Given the description of an element on the screen output the (x, y) to click on. 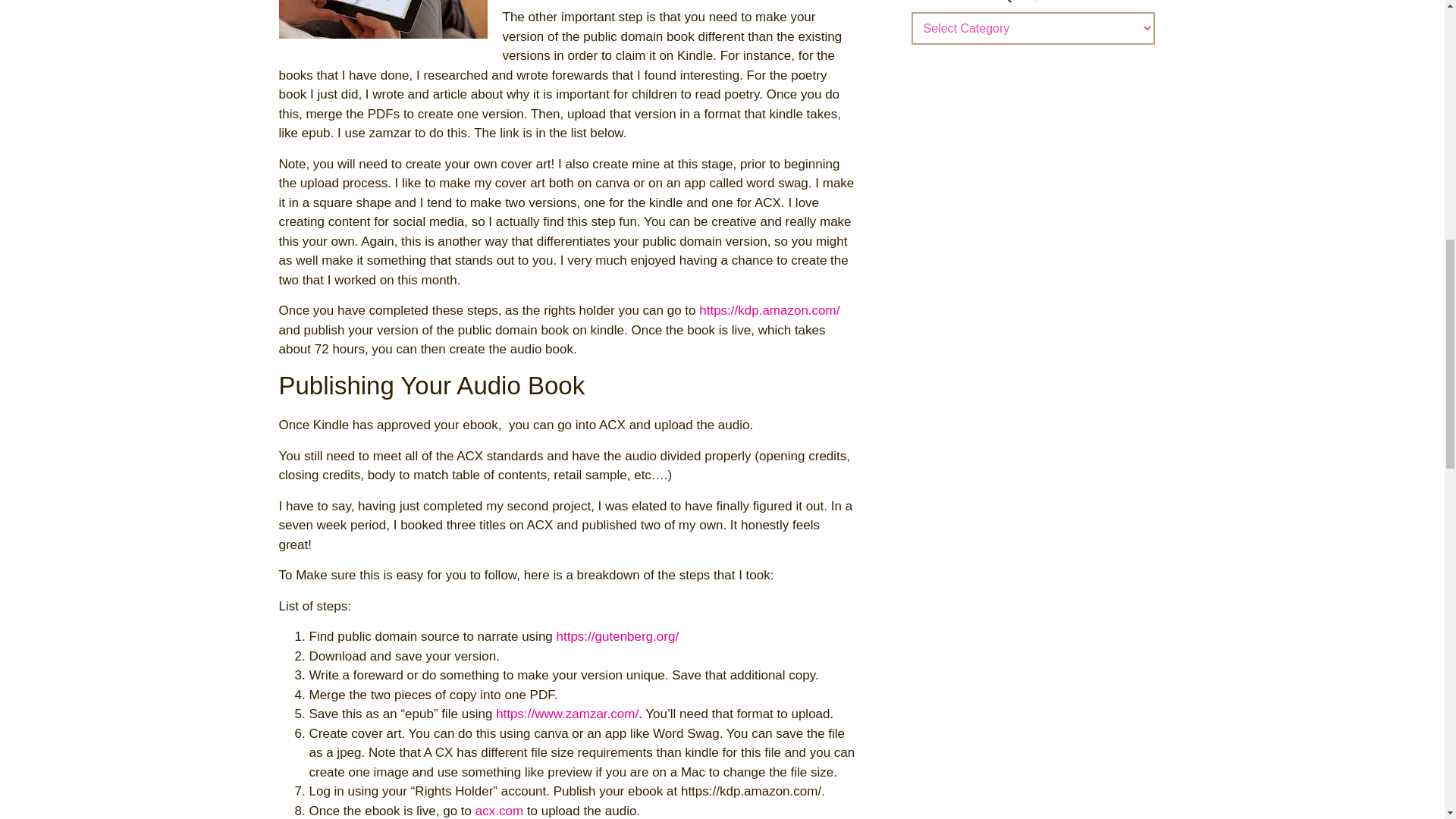
Laura Schreiber Voiceovers Categories (1032, 2)
